Given the description of an element on the screen output the (x, y) to click on. 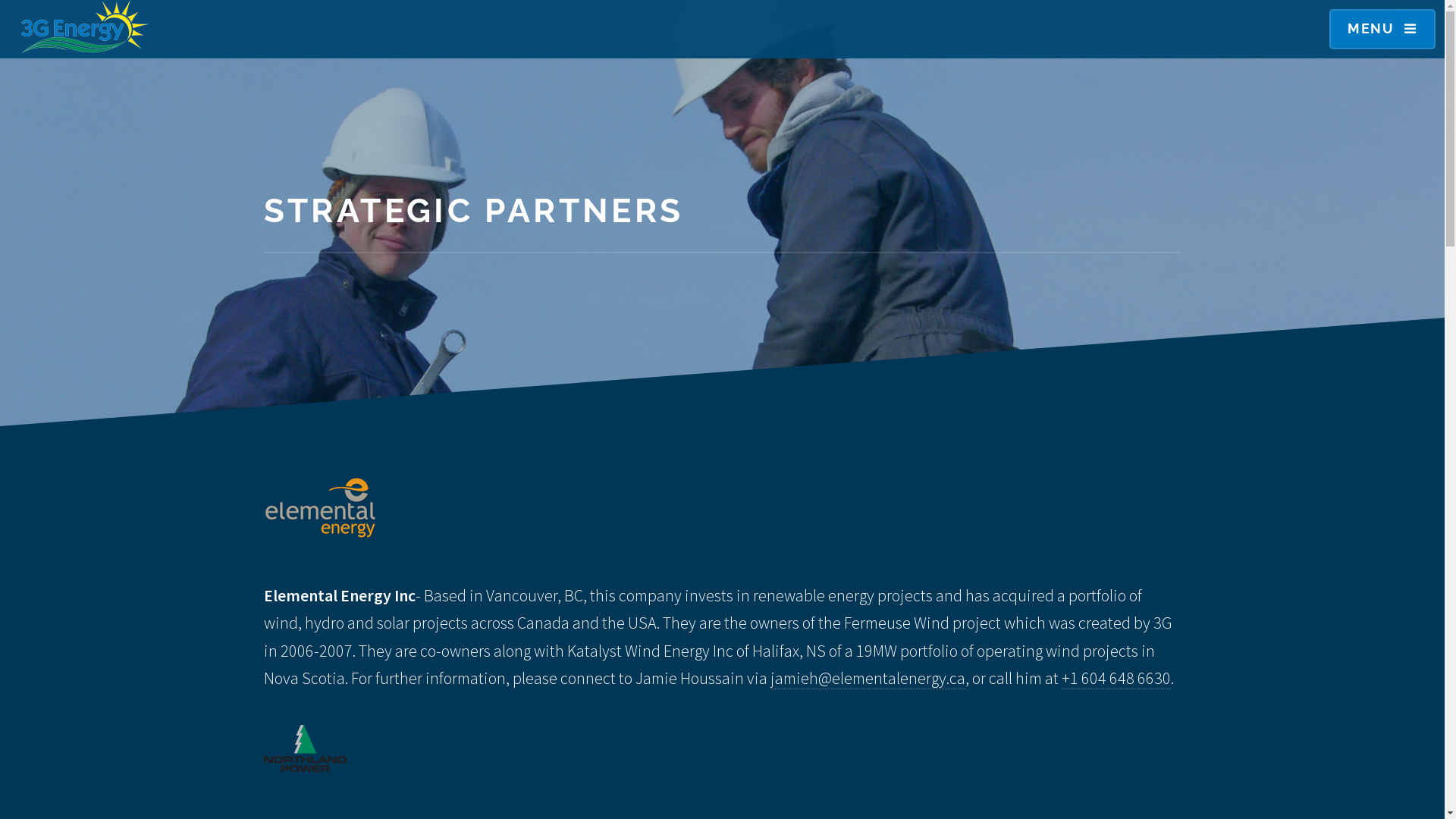
MENU Element type: text (1382, 29)
jamieh@elementalenergy.ca Element type: text (867, 678)
+1 604 648 6630 Element type: text (1115, 678)
